Given the description of an element on the screen output the (x, y) to click on. 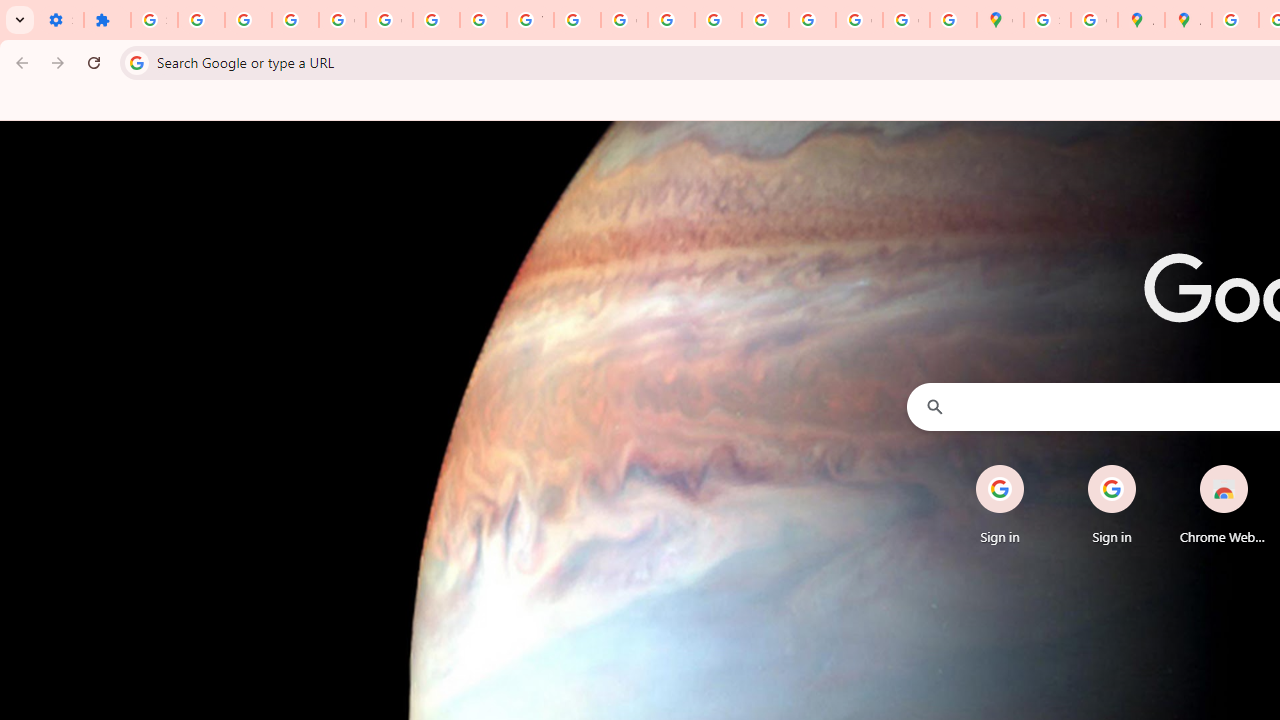
Policy Accountability and Transparency - Transparency Center (1235, 20)
Settings - On startup (60, 20)
Google Maps (999, 20)
Sign in - Google Accounts (1047, 20)
Sign in - Google Accounts (153, 20)
Delete photos & videos - Computer - Google Photos Help (201, 20)
Chrome Web Store (1223, 504)
Privacy Help Center - Policies Help (671, 20)
